Given the description of an element on the screen output the (x, y) to click on. 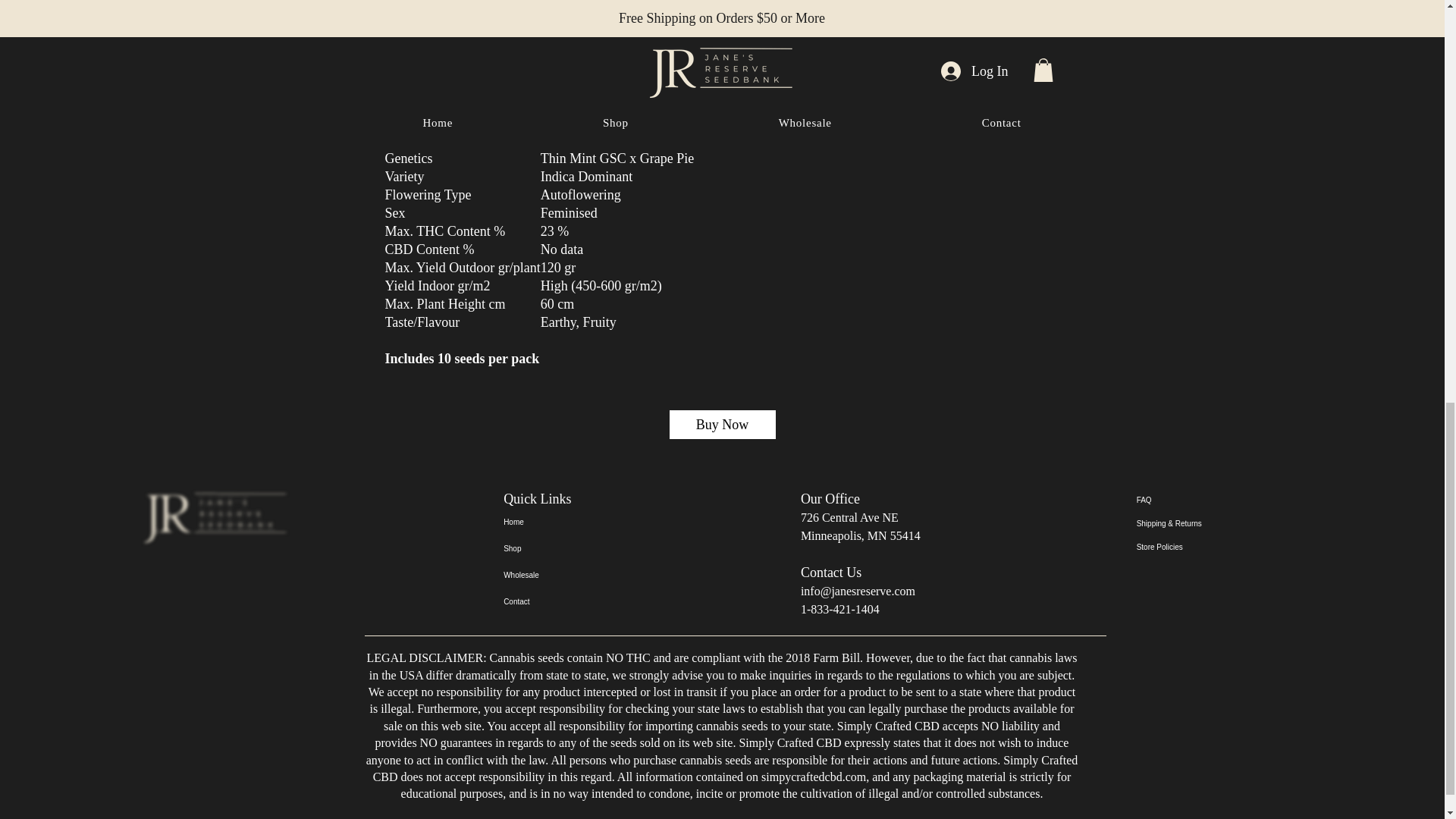
FAQ (1190, 499)
Buy Now (722, 424)
Store Policies (1190, 546)
Wholesale (556, 574)
Shop (556, 548)
Home (556, 521)
Contact (556, 601)
1-833-421-1404 (839, 608)
